Given the description of an element on the screen output the (x, y) to click on. 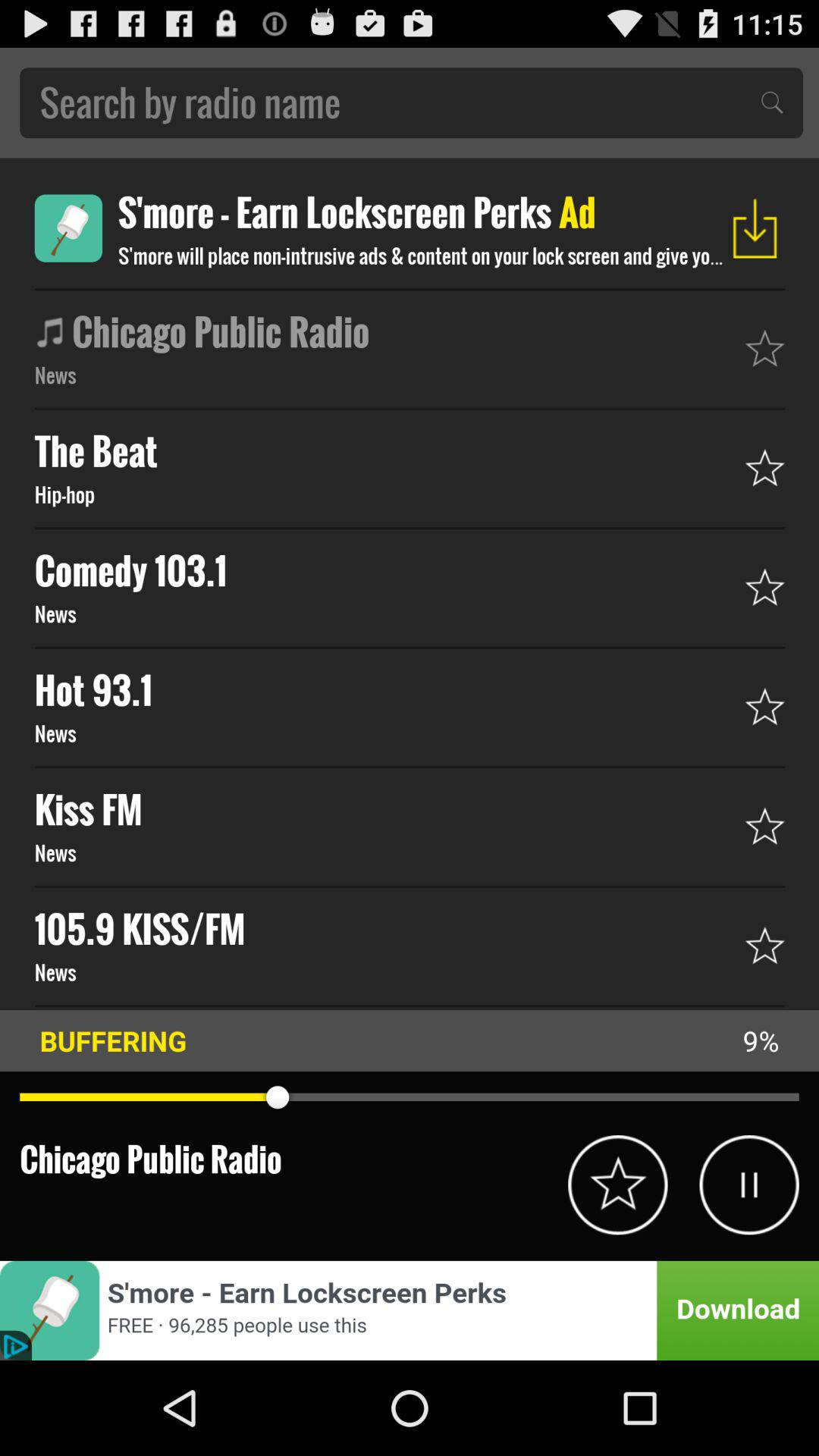
download (754, 228)
